Given the description of an element on the screen output the (x, y) to click on. 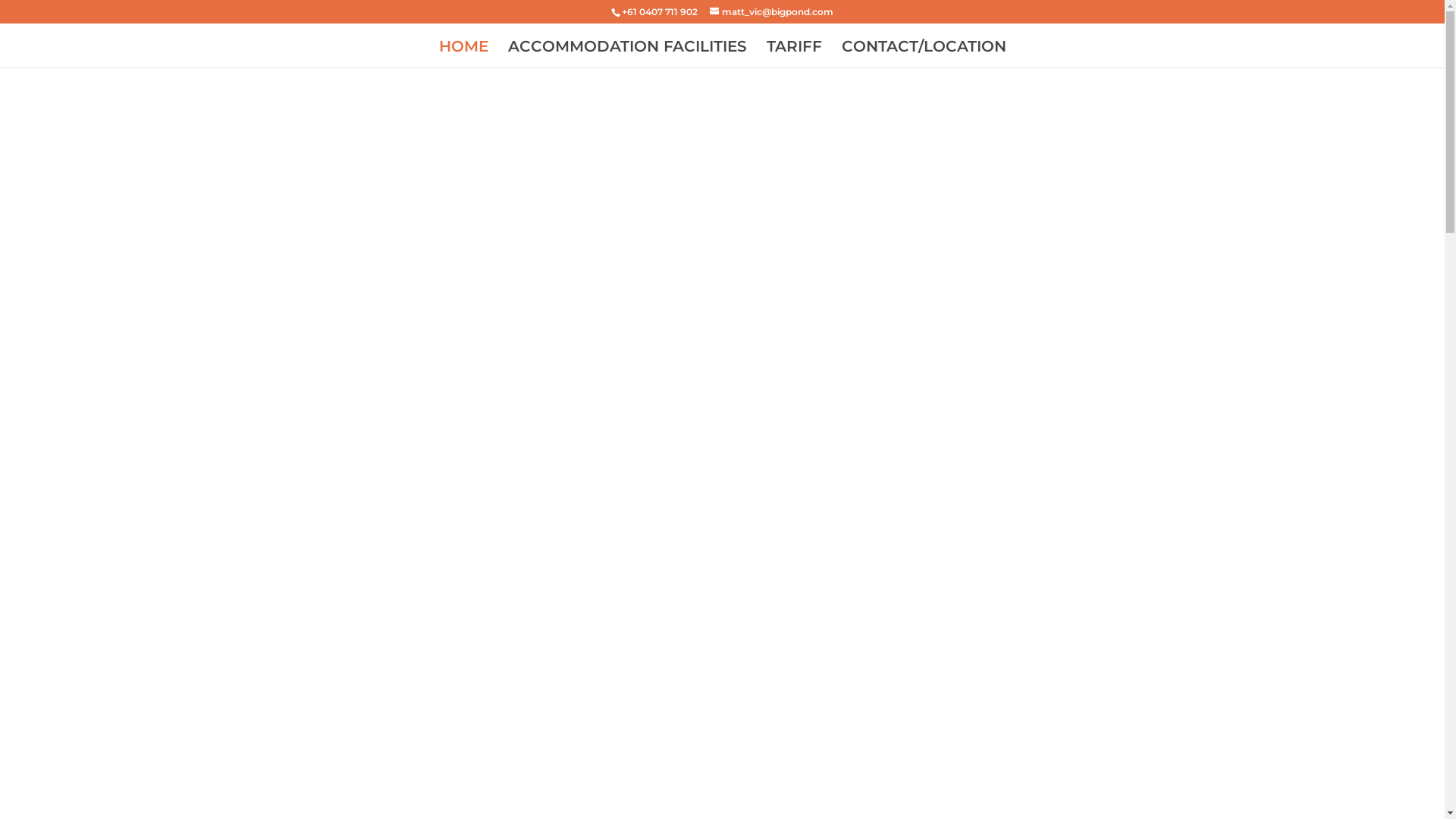
+61 0407 711 902 Element type: text (659, 11)
HOME Element type: text (462, 53)
TARIFF Element type: text (793, 53)
CONTACT/LOCATION Element type: text (923, 53)
matt_vic@bigpond.com Element type: text (771, 11)
ACCOMMODATION FACILITIES Element type: text (627, 53)
